Given the description of an element on the screen output the (x, y) to click on. 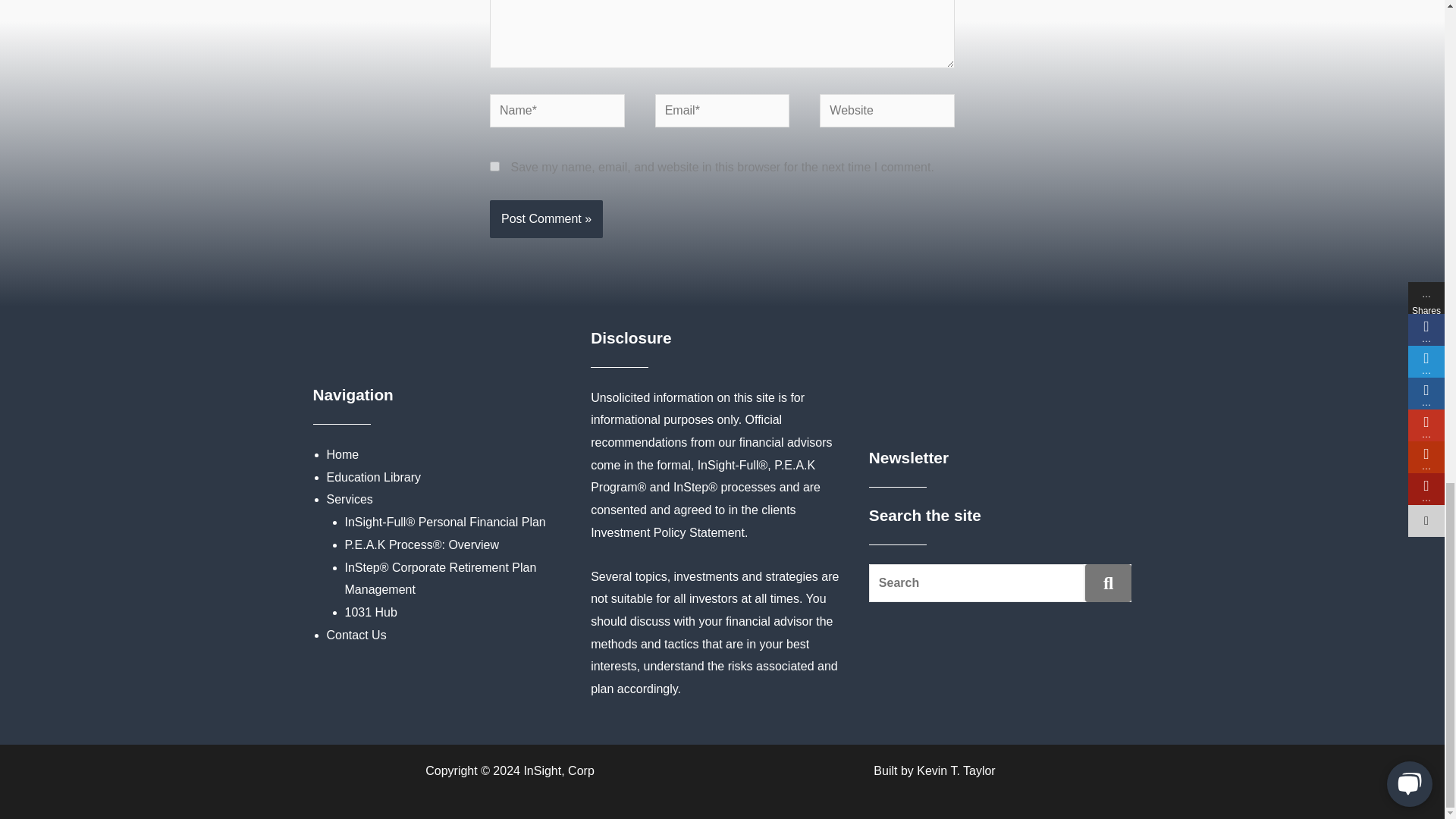
Search for: (976, 582)
yes (494, 166)
